Given the description of an element on the screen output the (x, y) to click on. 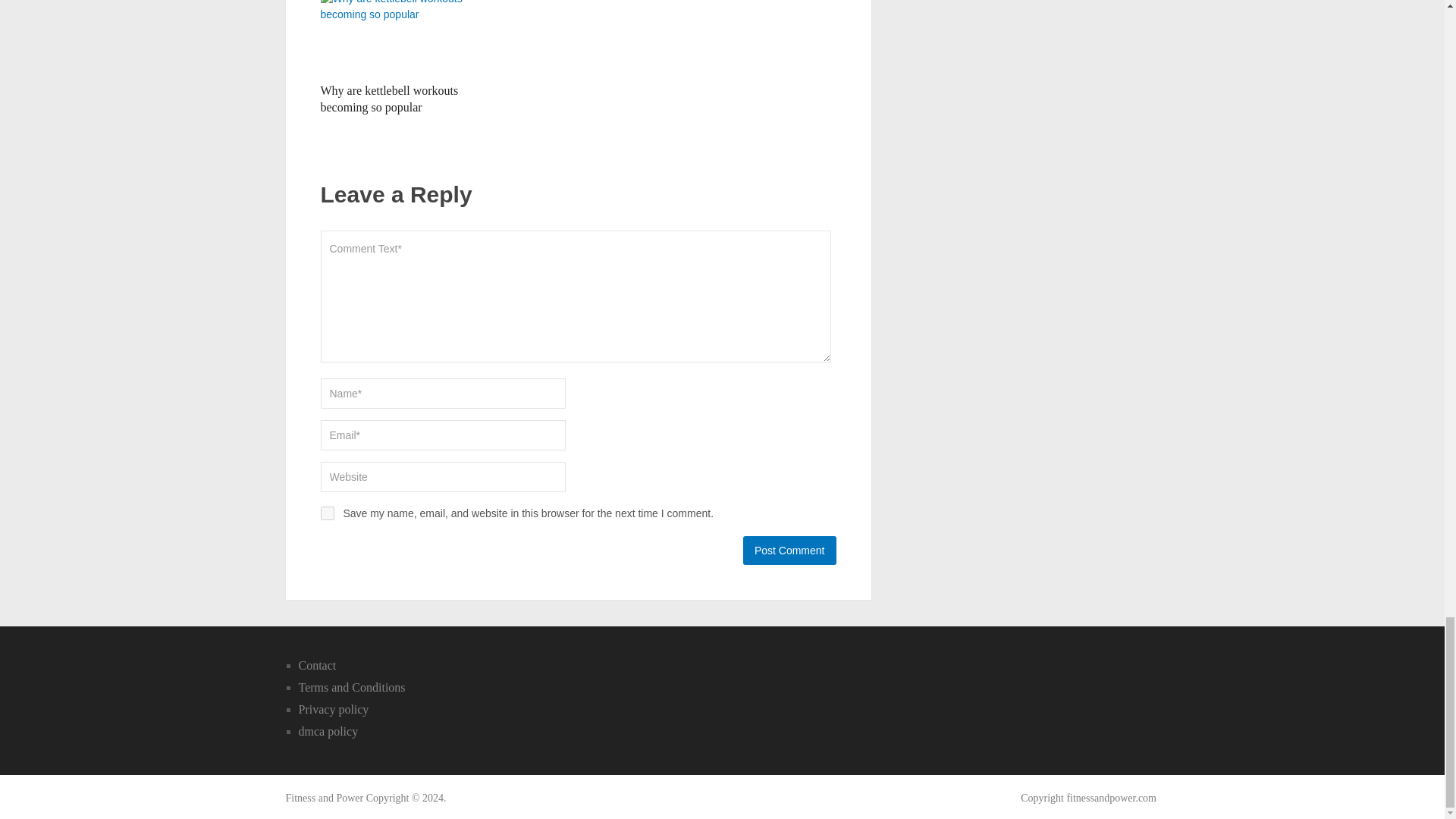
Post Comment (788, 550)
yes (326, 513)
